Given the description of an element on the screen output the (x, y) to click on. 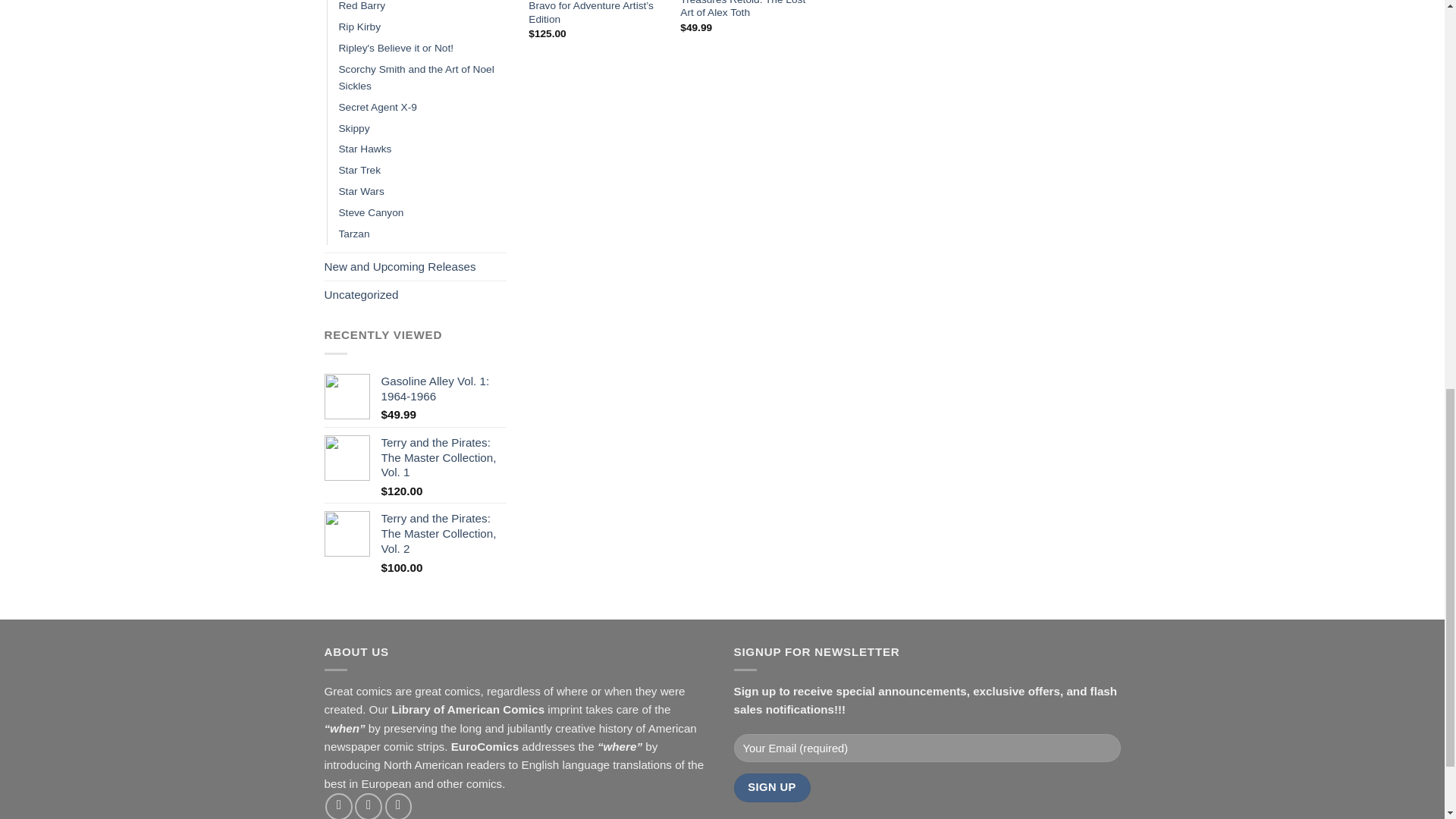
Sign Up (771, 787)
Follow on Twitter (398, 806)
Follow on Instagram (368, 806)
Follow on Facebook (338, 806)
